Given the description of an element on the screen output the (x, y) to click on. 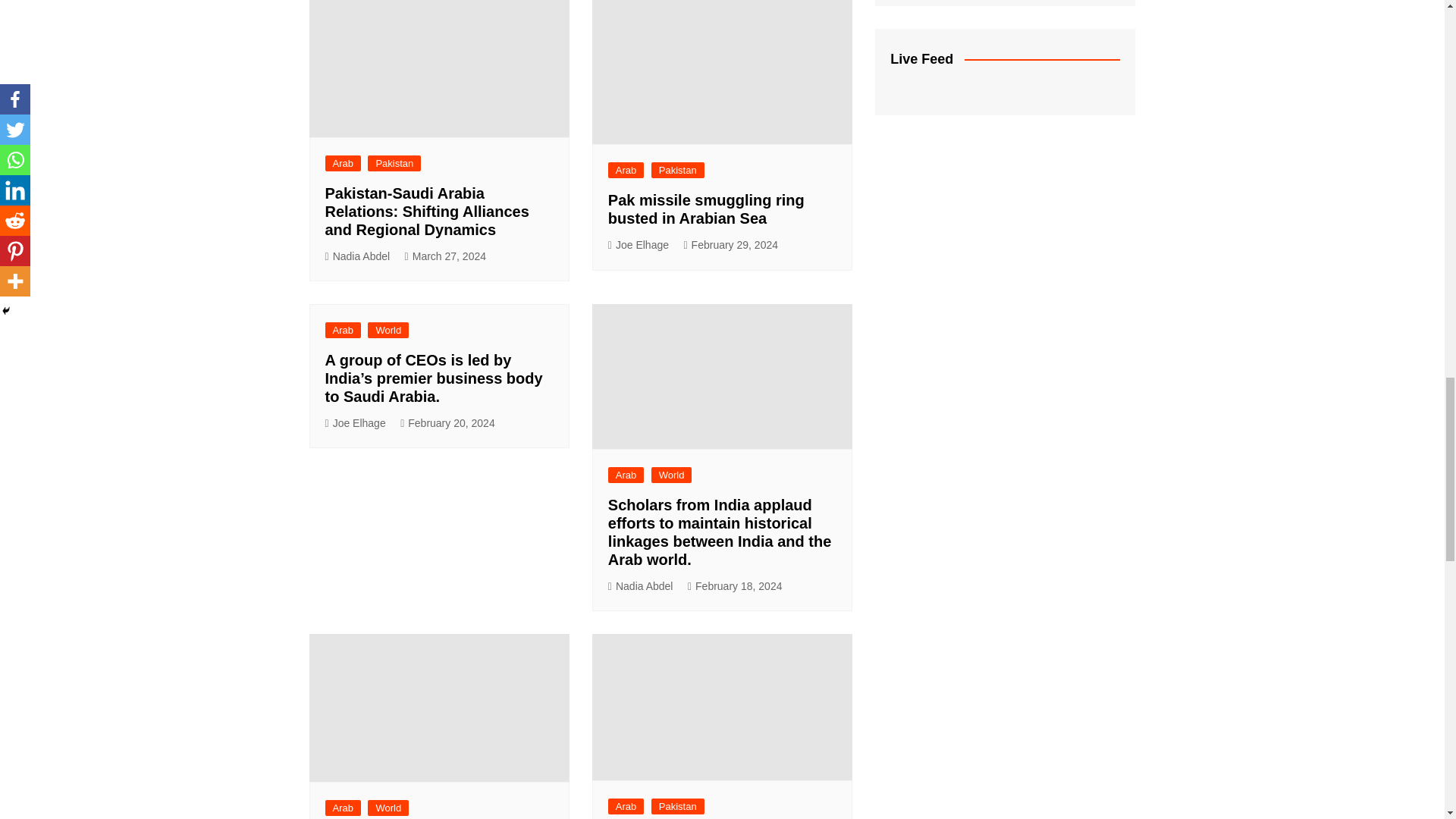
Nadia Abdel (357, 256)
March 27, 2024 (445, 256)
Arab (341, 163)
Pakistan (394, 163)
